Given the description of an element on the screen output the (x, y) to click on. 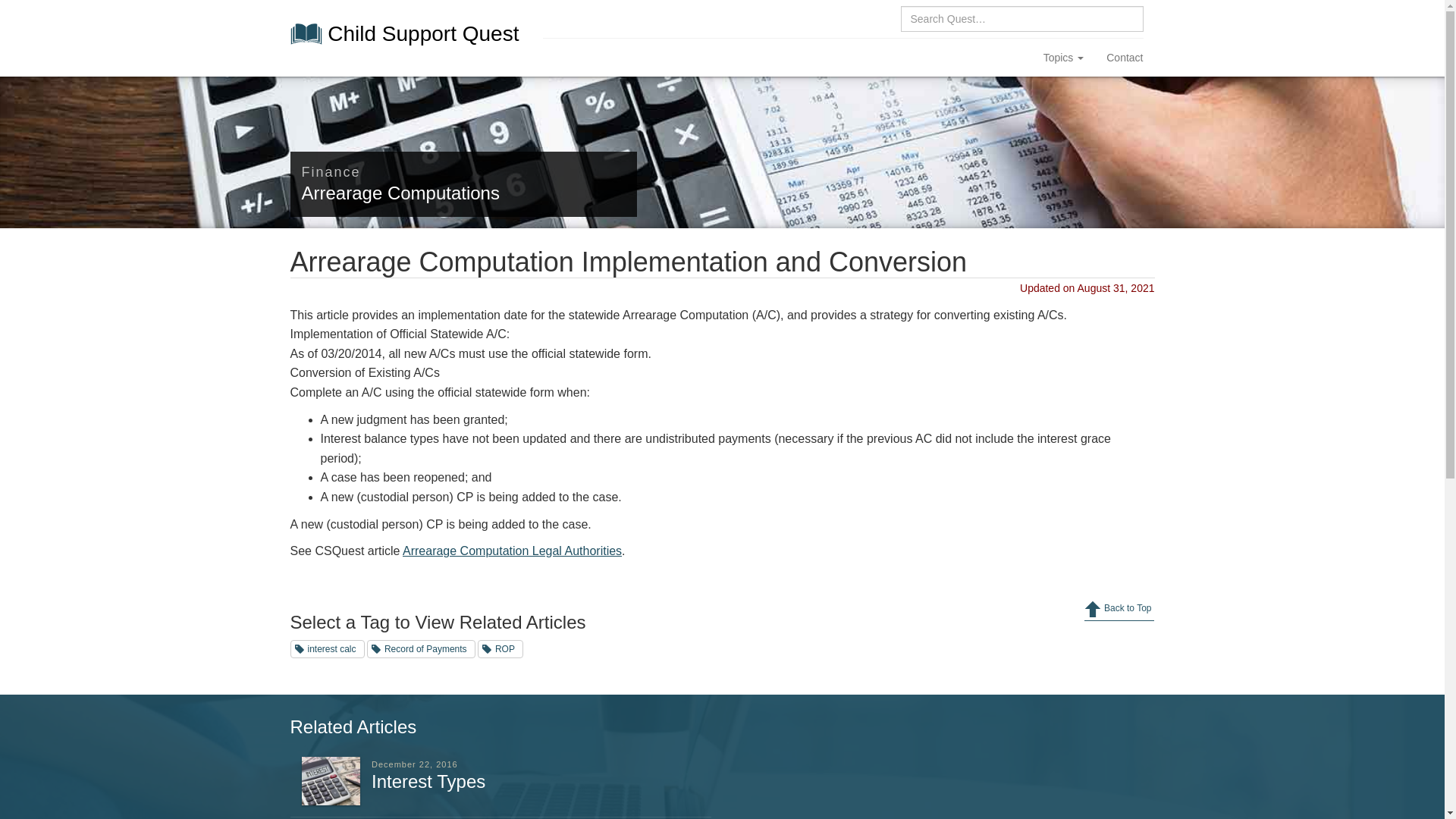
ROP (499, 648)
Contact (1124, 57)
Topics (1064, 57)
Arrearage Computation Legal Authorities (512, 550)
Interest Types (427, 781)
Topics (1064, 57)
Contact (1124, 57)
Back to Top (1119, 608)
Finance (331, 171)
Child Support Quest (411, 25)
Arrearage Computations (400, 192)
Record of Payments (421, 648)
interest calc (326, 648)
